Given the description of an element on the screen output the (x, y) to click on. 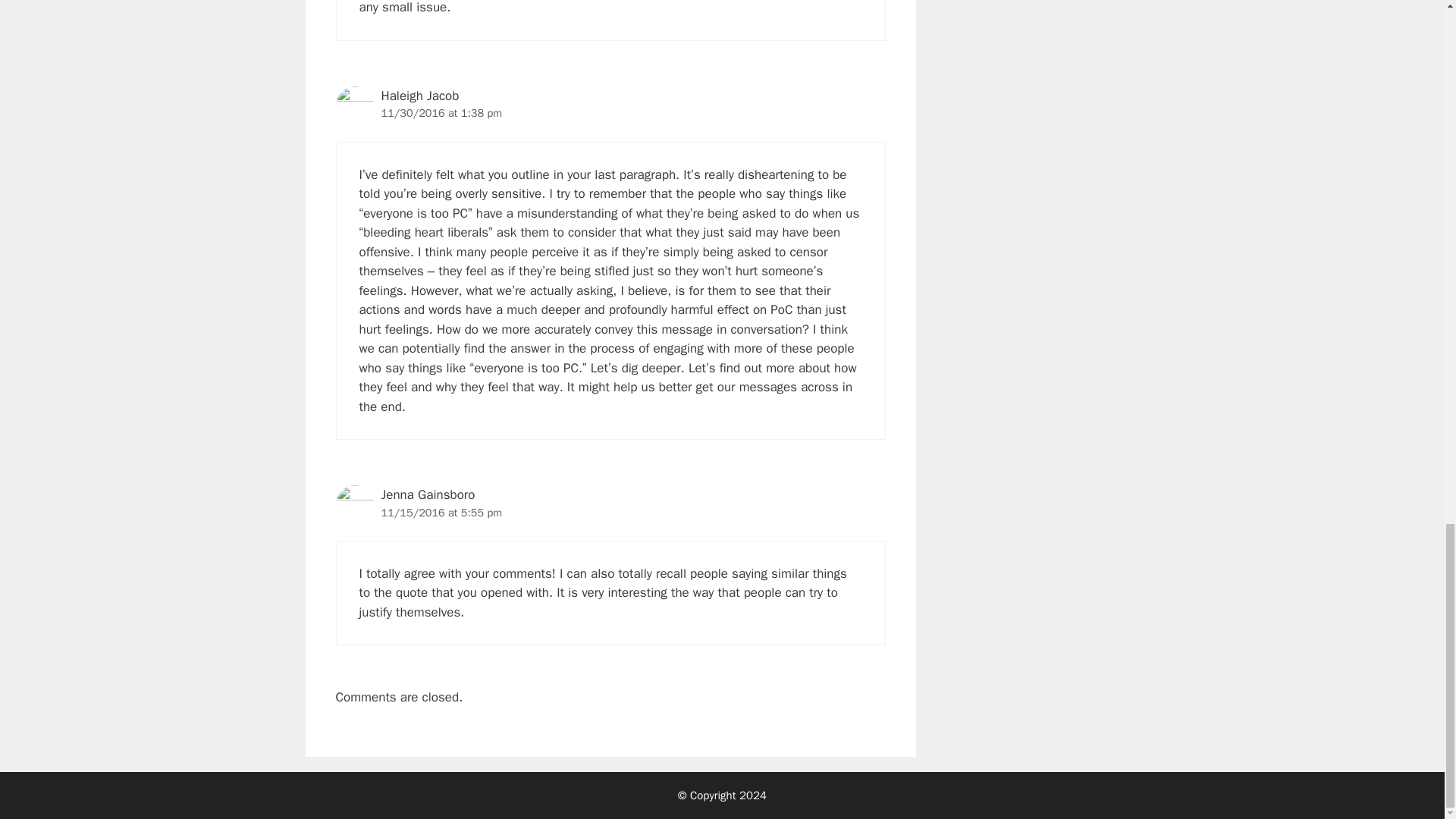
Scroll back to top (1406, 58)
